Given the description of an element on the screen output the (x, y) to click on. 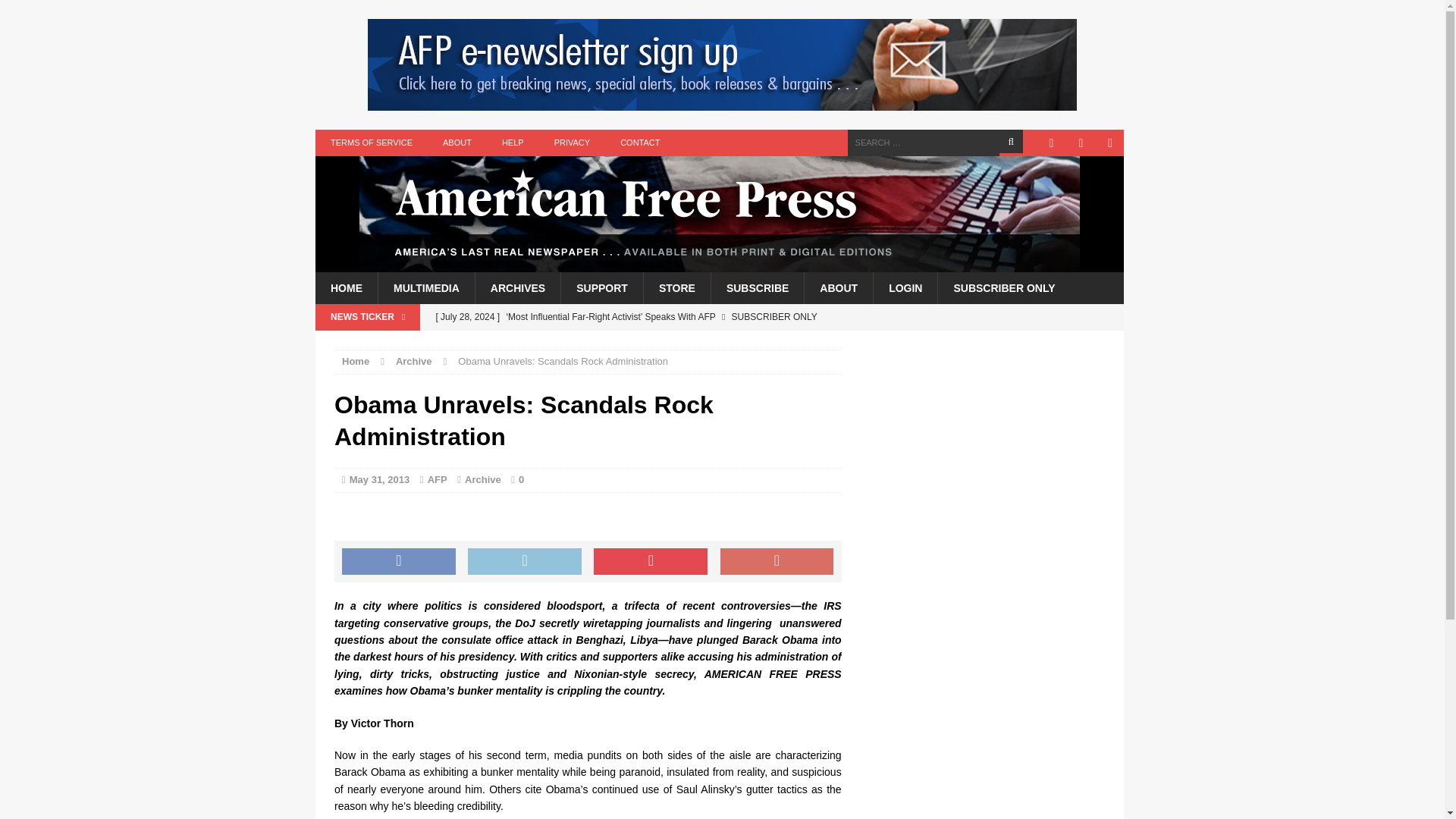
Tweet This Post (523, 561)
Home (355, 360)
STORE (676, 287)
American Free Press (719, 213)
ABOUT (837, 287)
PRIVACY (571, 142)
TERMS OF SERVICE (371, 142)
CONTACT (640, 142)
SUBSCRIBE (756, 287)
ABOUT (457, 142)
AFP (437, 479)
Will Republicans Turn the Lawfare Tables on Dems? (633, 342)
MULTIMEDIA (425, 287)
Pin This Post (650, 561)
HOME (346, 287)
